Given the description of an element on the screen output the (x, y) to click on. 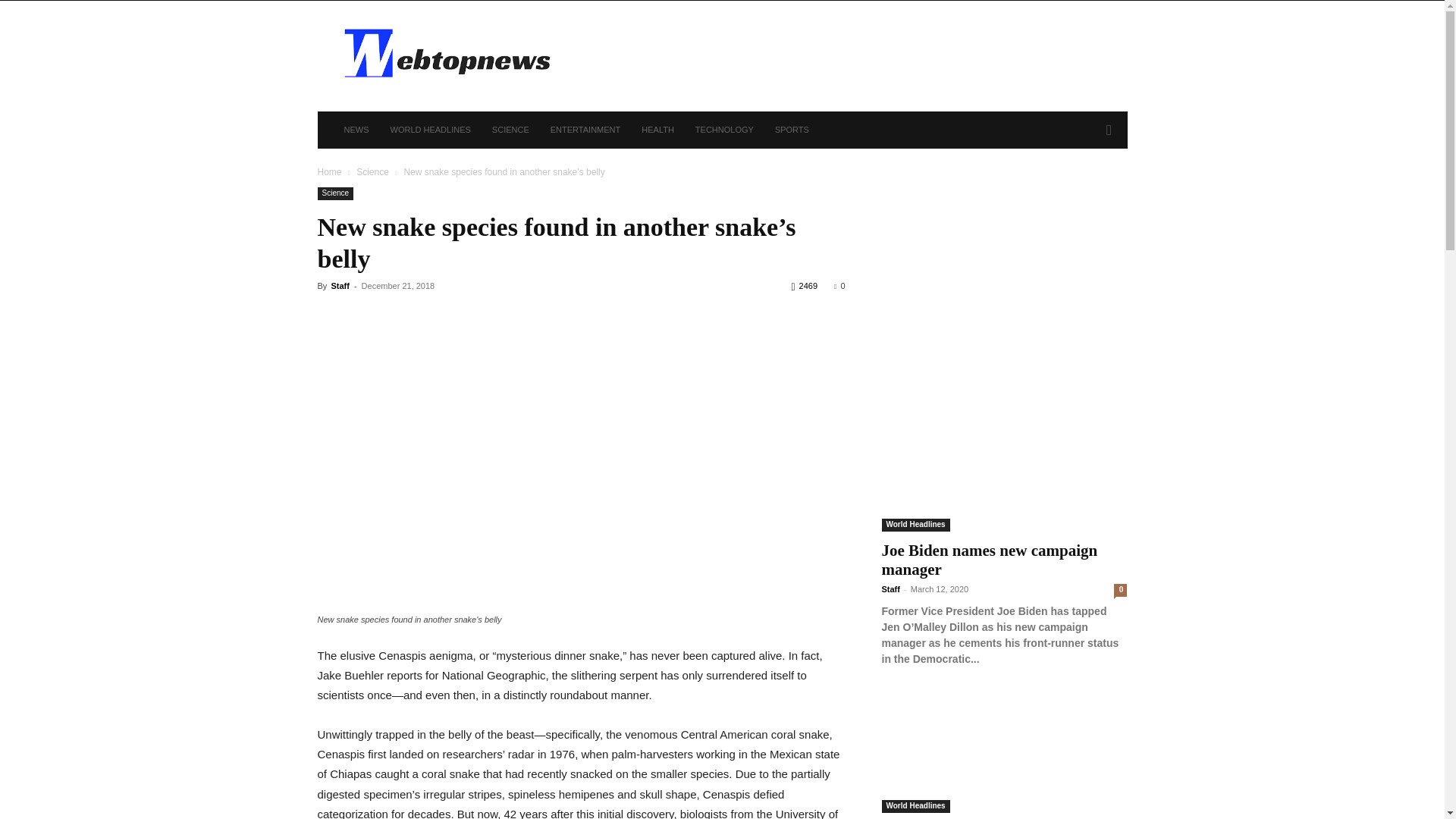
Home (328, 172)
Search (1085, 191)
0 (839, 285)
SCIENCE (510, 129)
View all posts in Science (372, 172)
SPORTS (791, 129)
WORLD HEADLINES (429, 129)
TECHNOLOGY (724, 129)
Science (372, 172)
ENTERTAINMENT (585, 129)
